Given the description of an element on the screen output the (x, y) to click on. 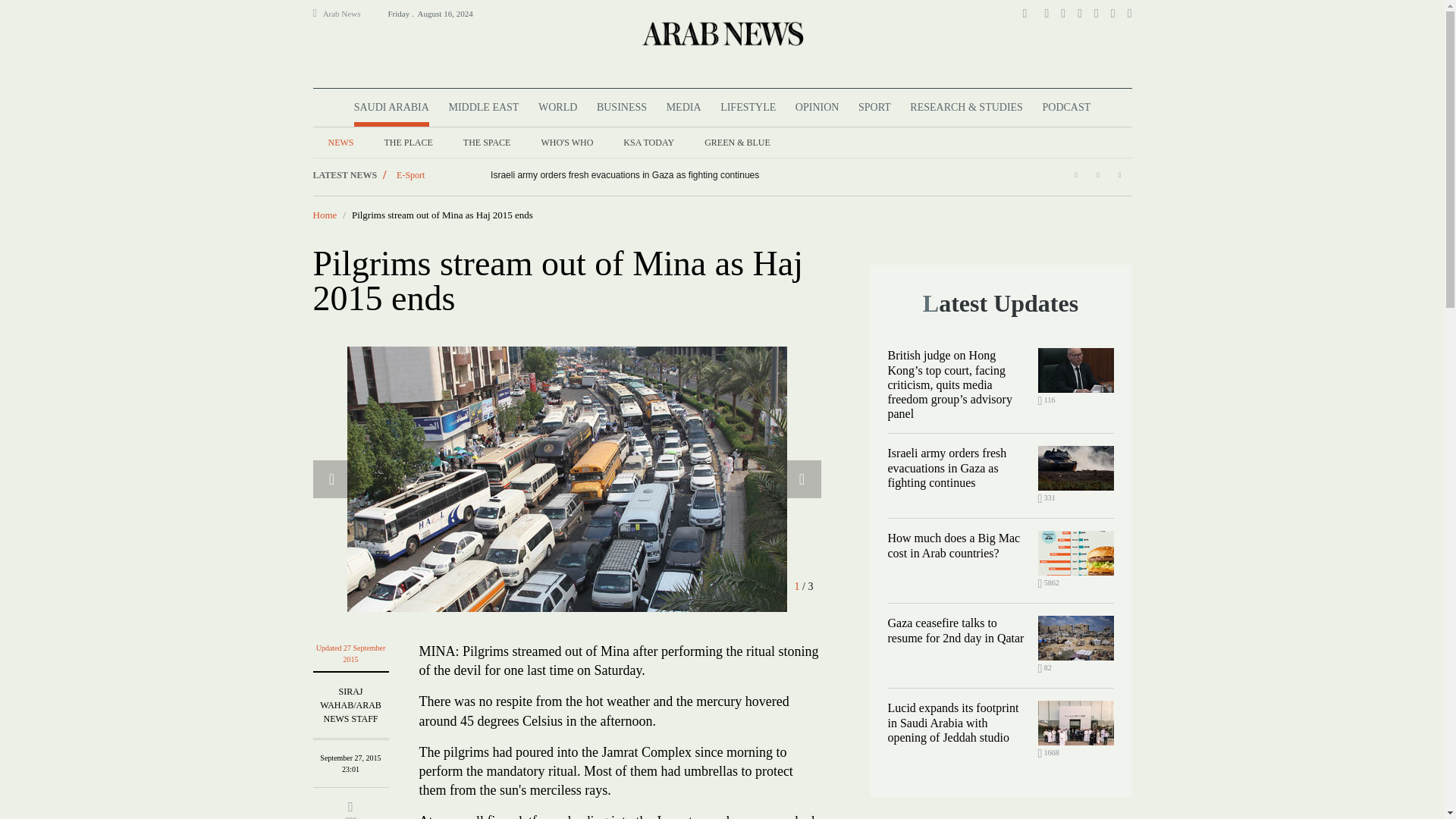
Arabnews (721, 33)
Gaza ceasefire talks to resume for 2nd day in Qatar (1074, 637)
Arab News (348, 13)
Pilgrims stream out of Mina as Haj 2015 ends (567, 478)
